Given the description of an element on the screen output the (x, y) to click on. 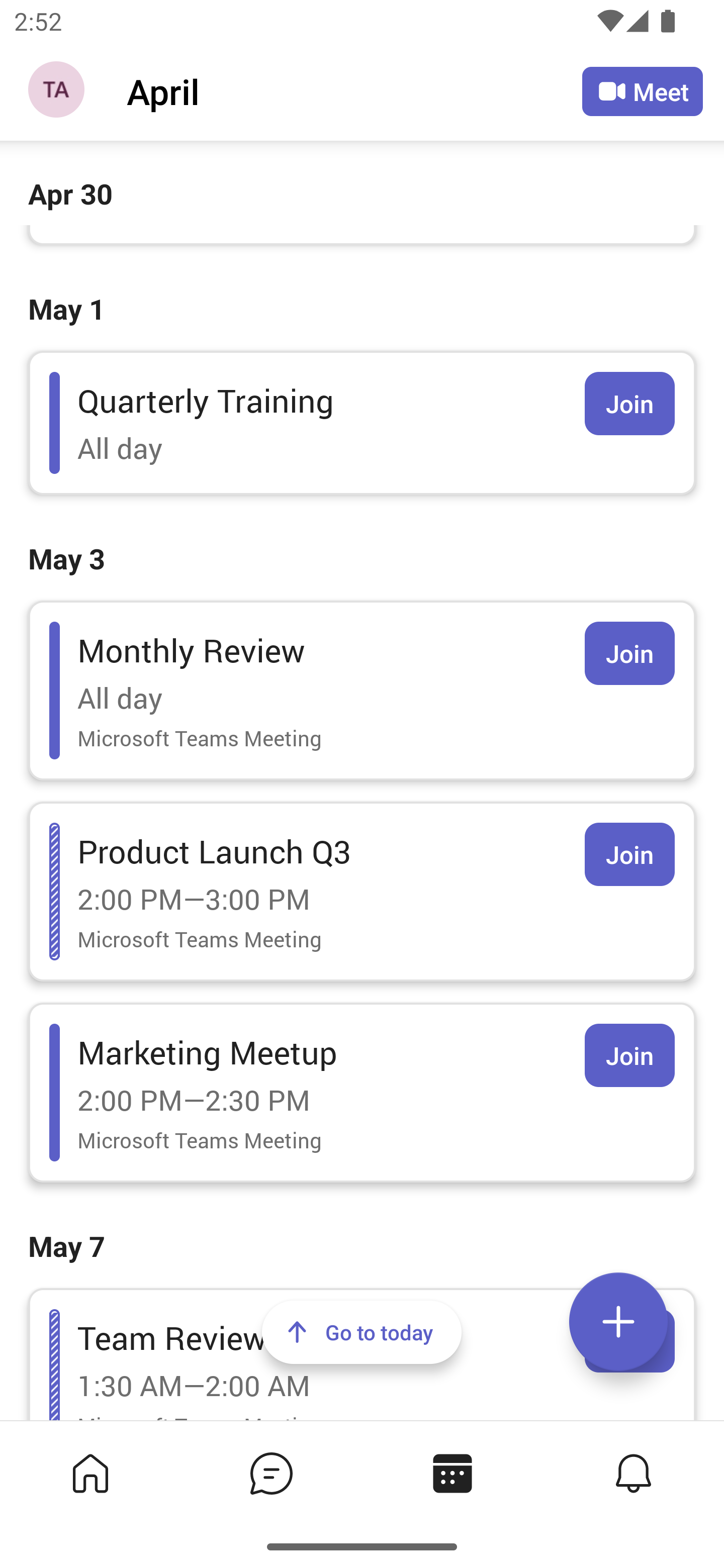
Navigation (58, 91)
Meet Meet now or join with an ID (642, 91)
April April Calendar Agenda View (354, 90)
Join (629, 403)
Join (629, 652)
Join (629, 854)
Join (629, 1054)
Expand meetings menu (618, 1321)
Go to today (361, 1331)
Home tab,1 of 4, not selected (90, 1472)
Chat tab,2 of 4, not selected (271, 1472)
Calendar tab, 3 of 4 (452, 1472)
Activity tab,4 of 4, not selected (633, 1472)
